Given the description of an element on the screen output the (x, y) to click on. 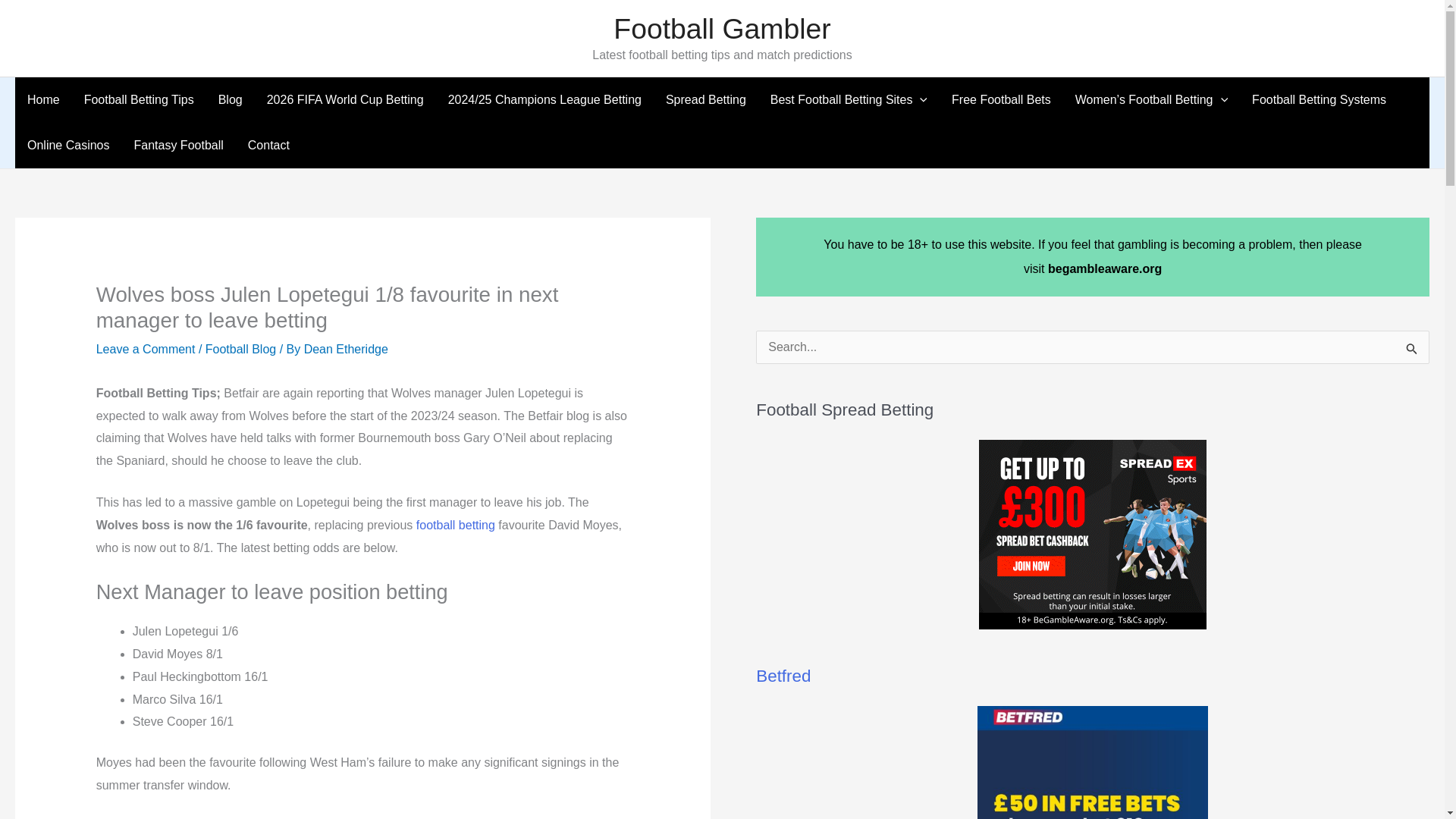
Online Casinos (68, 145)
Contact (268, 145)
Best Football Betting Sites (848, 99)
Football Gambler (720, 29)
Free Football Bets (1000, 99)
Fantasy Football (177, 145)
View all posts by Dean Etheridge (346, 349)
2026 FIFA World Cup Betting (344, 99)
Blog (230, 99)
Football Betting Tips (138, 99)
